Given the description of an element on the screen output the (x, y) to click on. 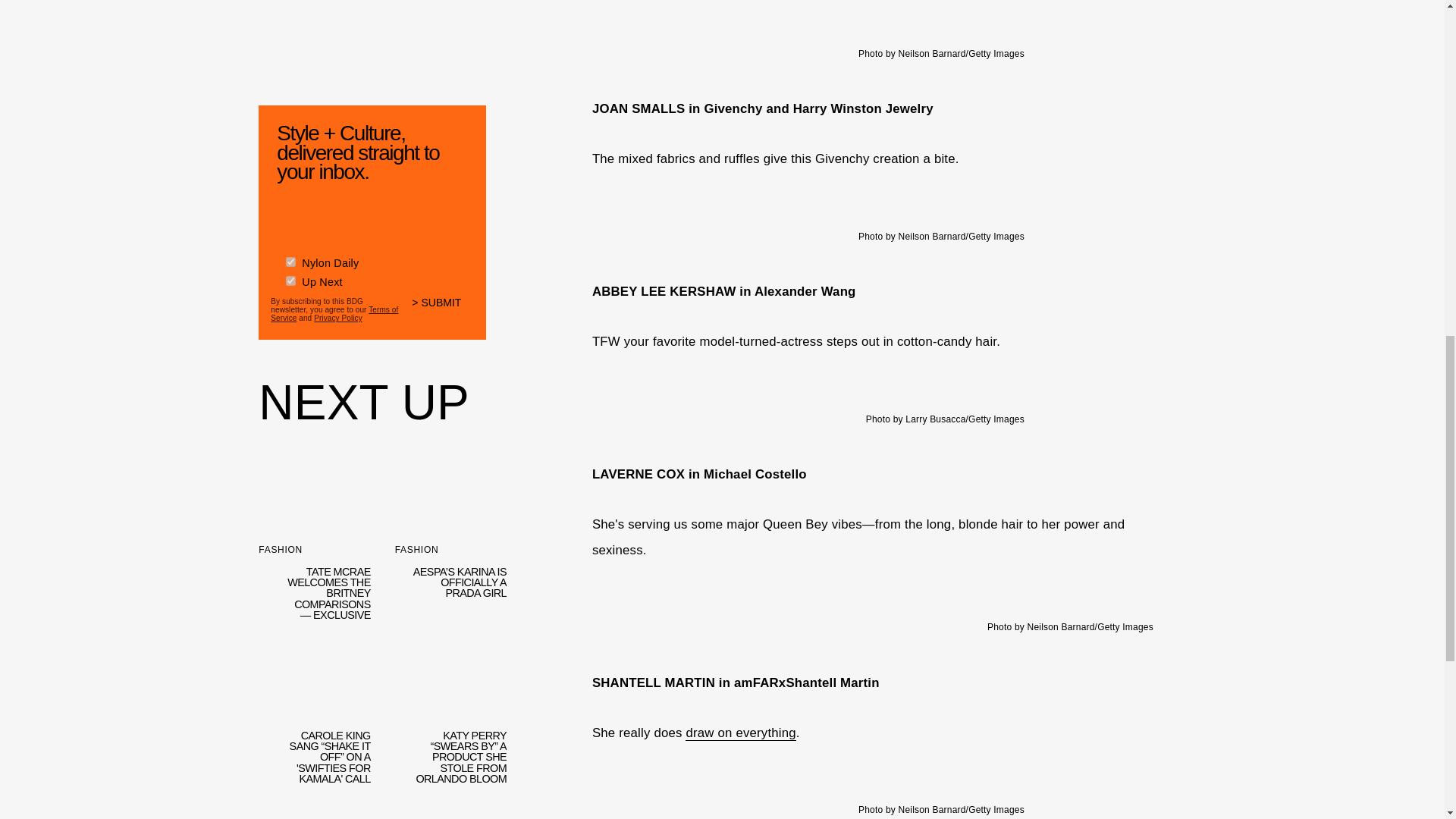
draw on everything (739, 732)
SUBMIT (443, 308)
Privacy Policy (338, 316)
Terms of Service (333, 311)
